Given the description of an element on the screen output the (x, y) to click on. 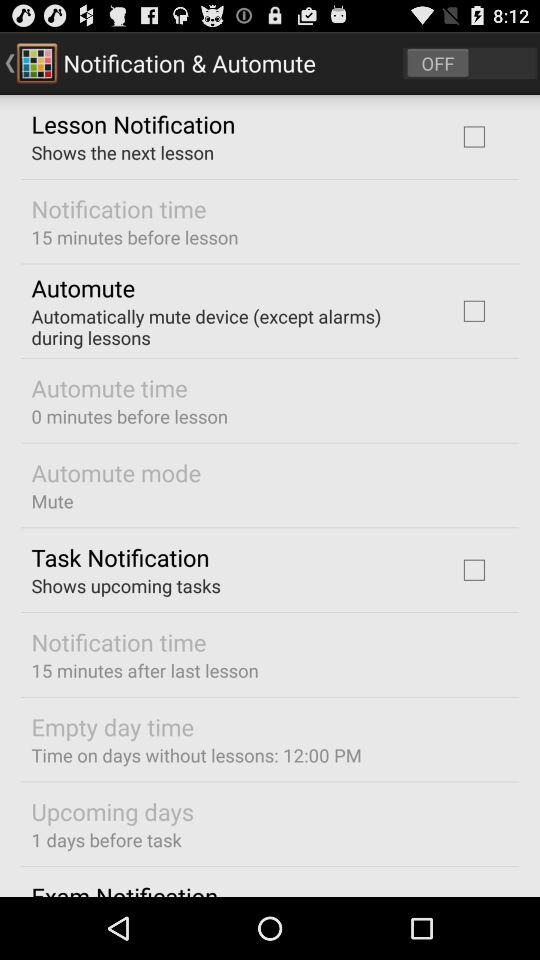
choose the lesson notification icon (133, 123)
